Given the description of an element on the screen output the (x, y) to click on. 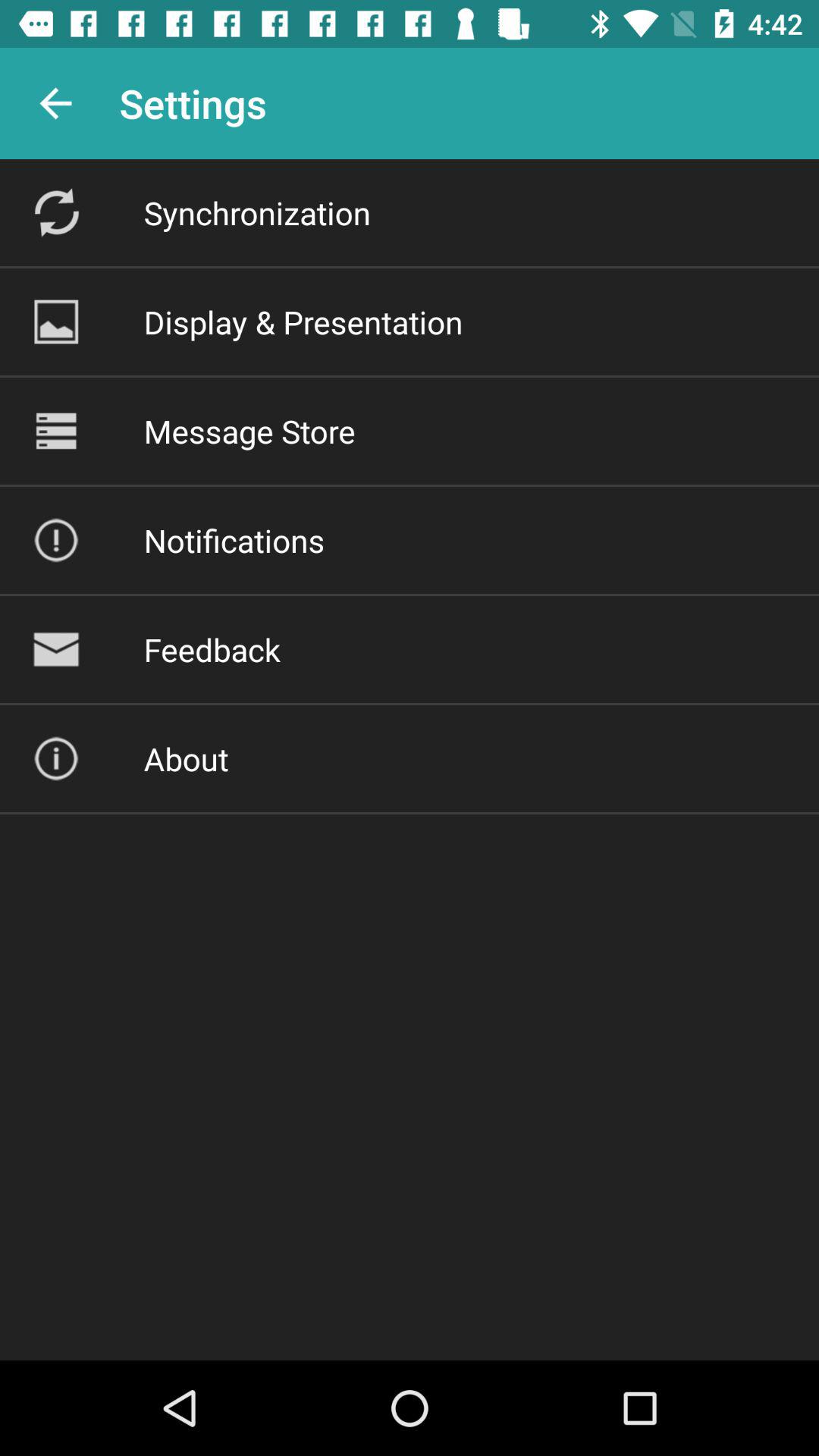
turn on item above about item (211, 649)
